Given the description of an element on the screen output the (x, y) to click on. 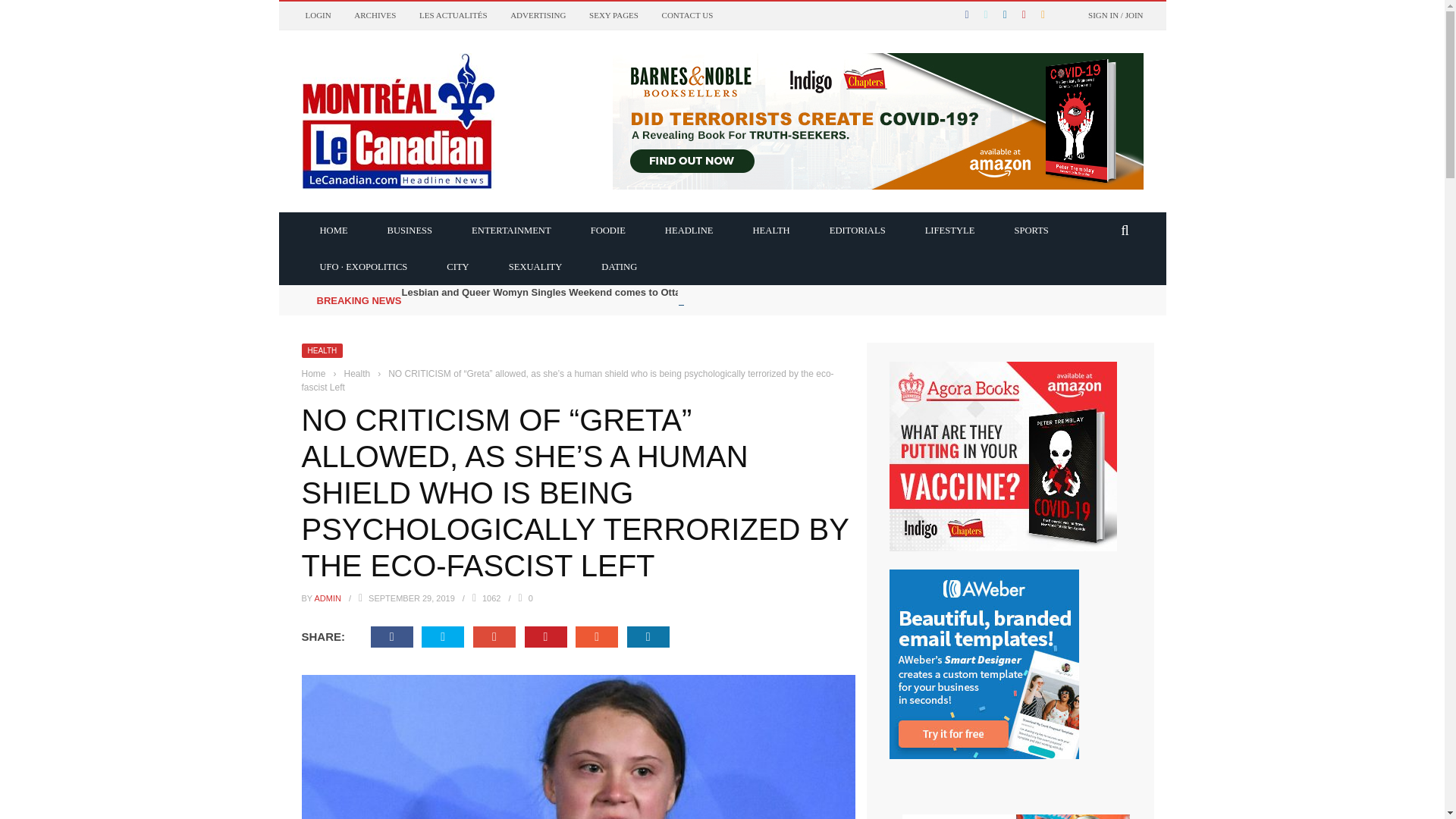
CONTACT US (687, 14)
HOME (333, 229)
LOGIN (317, 14)
Pinterest (545, 636)
BUSINESS (410, 229)
HEADLINE (689, 229)
ARCHIVES (374, 14)
Google Plus (494, 636)
Stumbleupon (596, 636)
ADVERTISING (538, 14)
FOODIE (607, 229)
Twitter (443, 636)
Facebook (392, 636)
Linkedin (648, 636)
SEXY PAGES (614, 14)
